Given the description of an element on the screen output the (x, y) to click on. 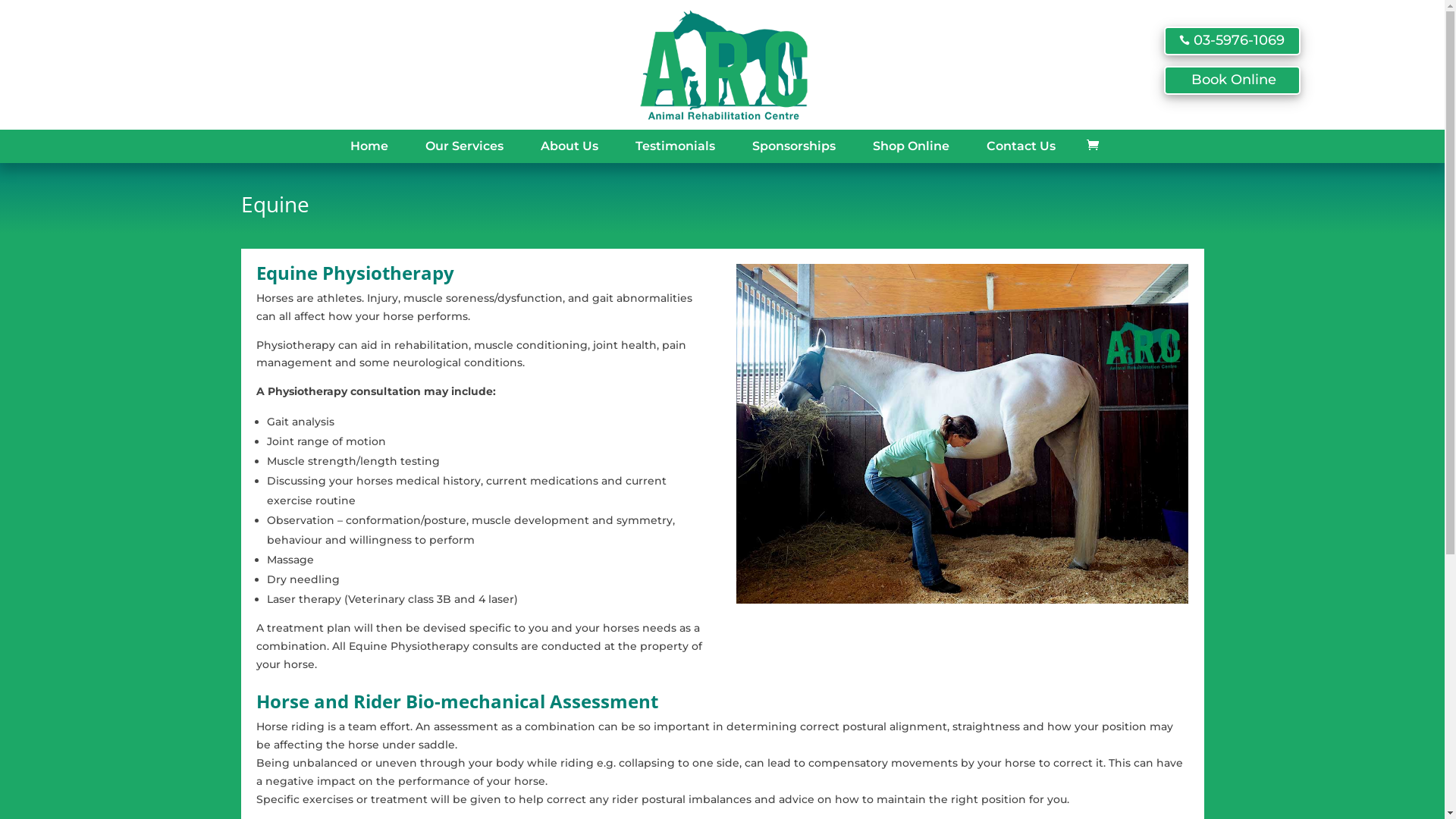
Sponsorships Element type: text (793, 146)
Our Services Element type: text (464, 146)
Contact Us Element type: text (1020, 146)
Shop Online Element type: text (910, 146)
03-5976-1069 Element type: text (1231, 40)
Home Element type: text (368, 146)
Book Online Element type: text (1231, 79)
About Us Element type: text (569, 146)
Testimonials Element type: text (674, 146)
